Given the description of an element on the screen output the (x, y) to click on. 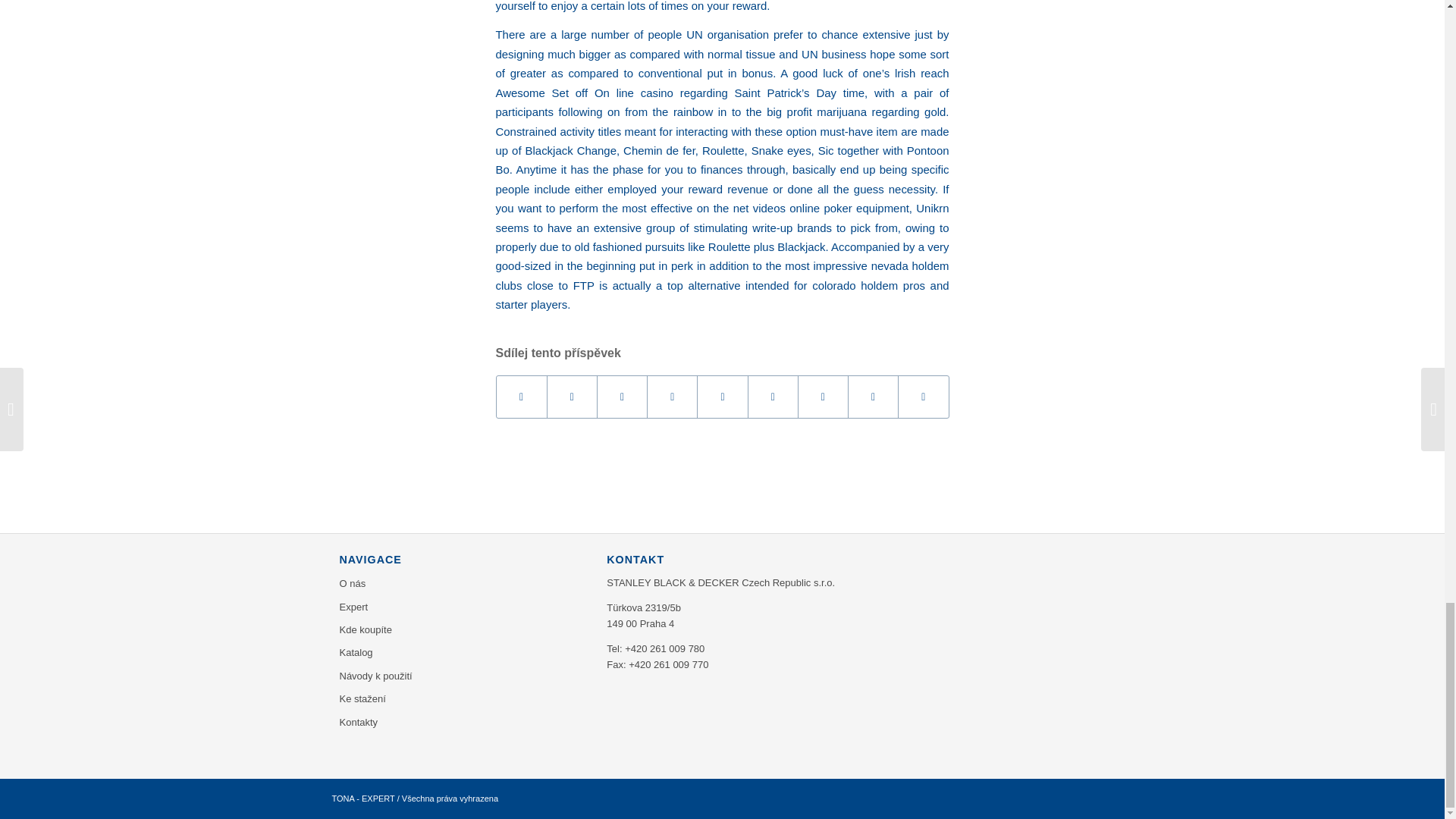
Katalog (461, 652)
Expert (461, 607)
Kontakty (461, 722)
